Given the description of an element on the screen output the (x, y) to click on. 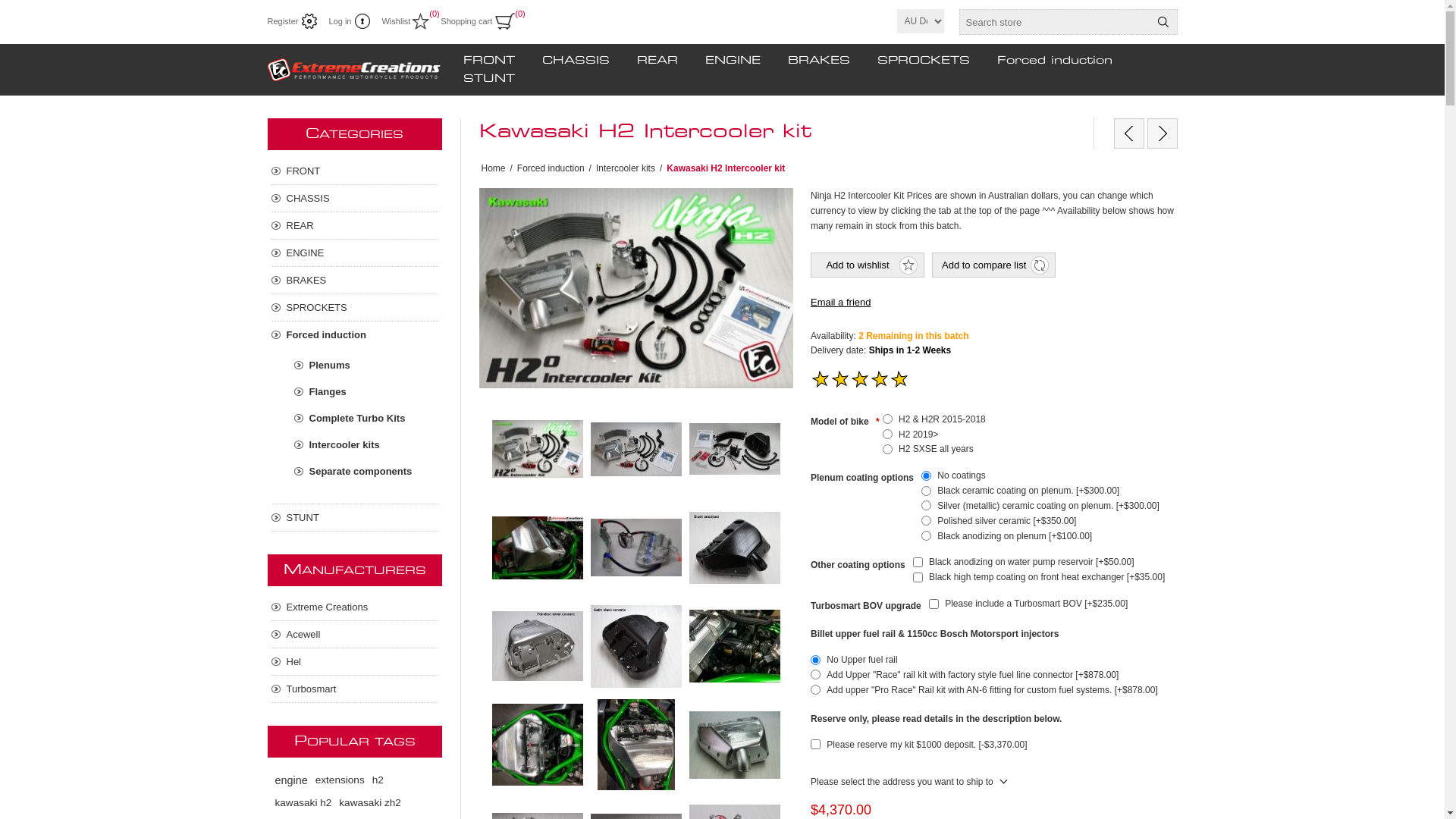
Extreme Creations Element type: text (354, 606)
Add to wishlist Element type: text (867, 264)
Shopping cart
(0) Element type: text (477, 21)
Wishlist
(0) Element type: text (405, 21)
Intercooler kits Element type: text (625, 168)
Intercooler kits Element type: text (366, 444)
Kawasaki ZH2 Intercooler ki... Element type: hover (1128, 133)
CHASSIS Element type: text (354, 198)
STUNT Element type: text (488, 78)
Please select the address you want to ship to Element type: text (908, 781)
ENGINE Element type: text (732, 60)
kawasaki zh2 Element type: text (369, 802)
Acewell Element type: text (354, 634)
Add to compare list Element type: text (993, 264)
h2 Element type: text (377, 779)
REAR Element type: text (657, 60)
REAR Element type: text (354, 225)
Register Element type: text (291, 21)
STUNT Element type: text (354, 517)
Forced induction Element type: text (1053, 60)
CHASSIS Element type: text (574, 60)
engine Element type: text (290, 779)
Home Element type: text (492, 168)
Extreme Creations online shopping cart Australia Element type: hover (353, 69)
ENGINE Element type: text (354, 252)
Hel Element type: text (354, 661)
Flanges Element type: text (366, 391)
Log in Element type: text (349, 21)
extensions Element type: text (339, 779)
Kawasaki H2SXSE & Ninja  H2... Element type: hover (1161, 133)
Forced induction Element type: text (550, 168)
Plenums Element type: text (366, 364)
Email a friend Element type: text (840, 301)
Forced induction Element type: text (354, 334)
Turbosmart Element type: text (354, 688)
SPROCKETS Element type: text (922, 60)
FRONT Element type: text (354, 170)
Complete Turbo Kits Element type: text (366, 417)
SPROCKETS Element type: text (354, 307)
BRAKES Element type: text (818, 60)
Separate components Element type: text (366, 471)
Search Element type: text (1162, 21)
BRAKES Element type: text (354, 279)
FRONT Element type: text (488, 60)
kawasaki h2 Element type: text (302, 802)
